Given the description of an element on the screen output the (x, y) to click on. 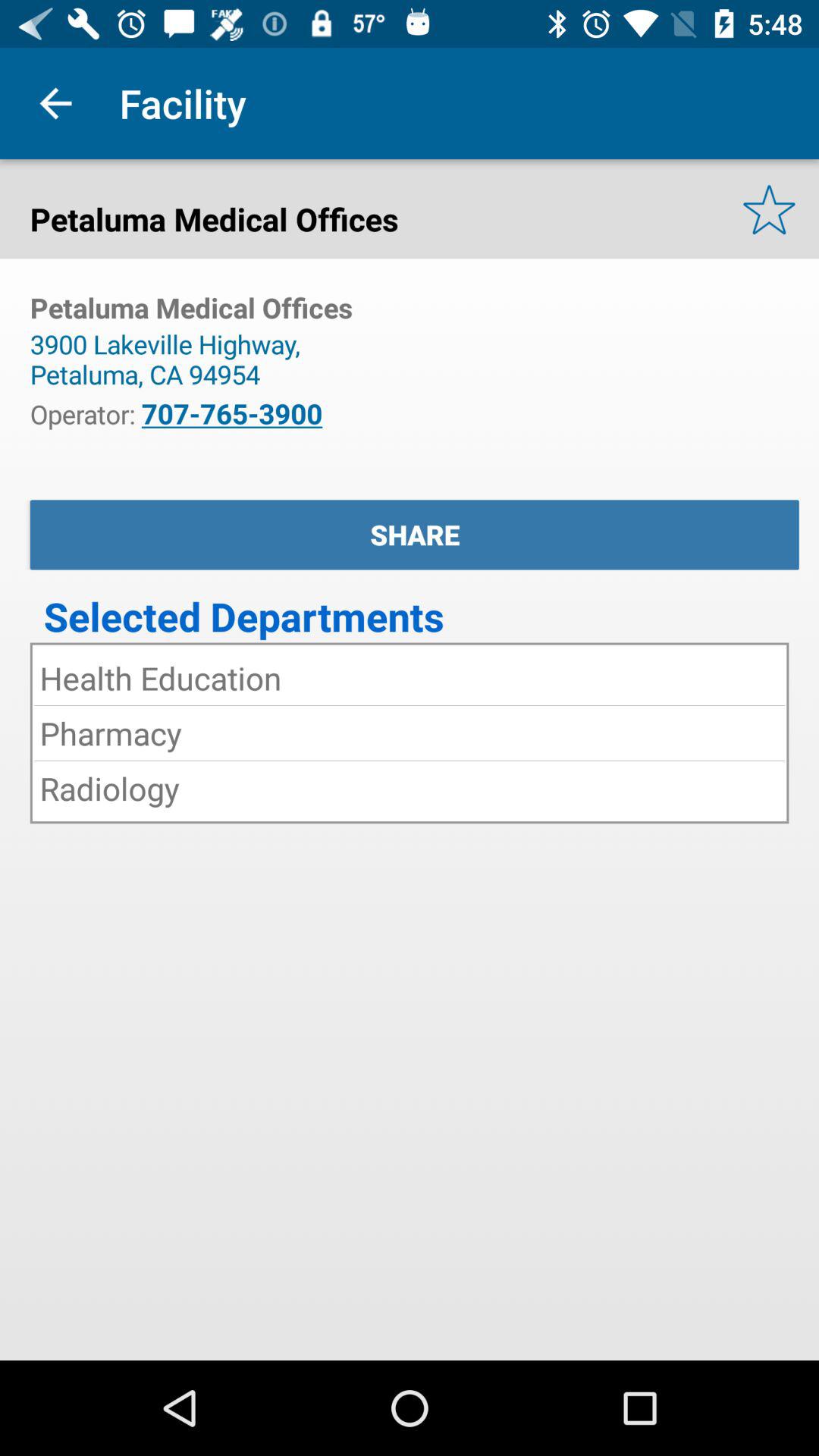
scroll to the 707-765-3900 icon (231, 413)
